Given the description of an element on the screen output the (x, y) to click on. 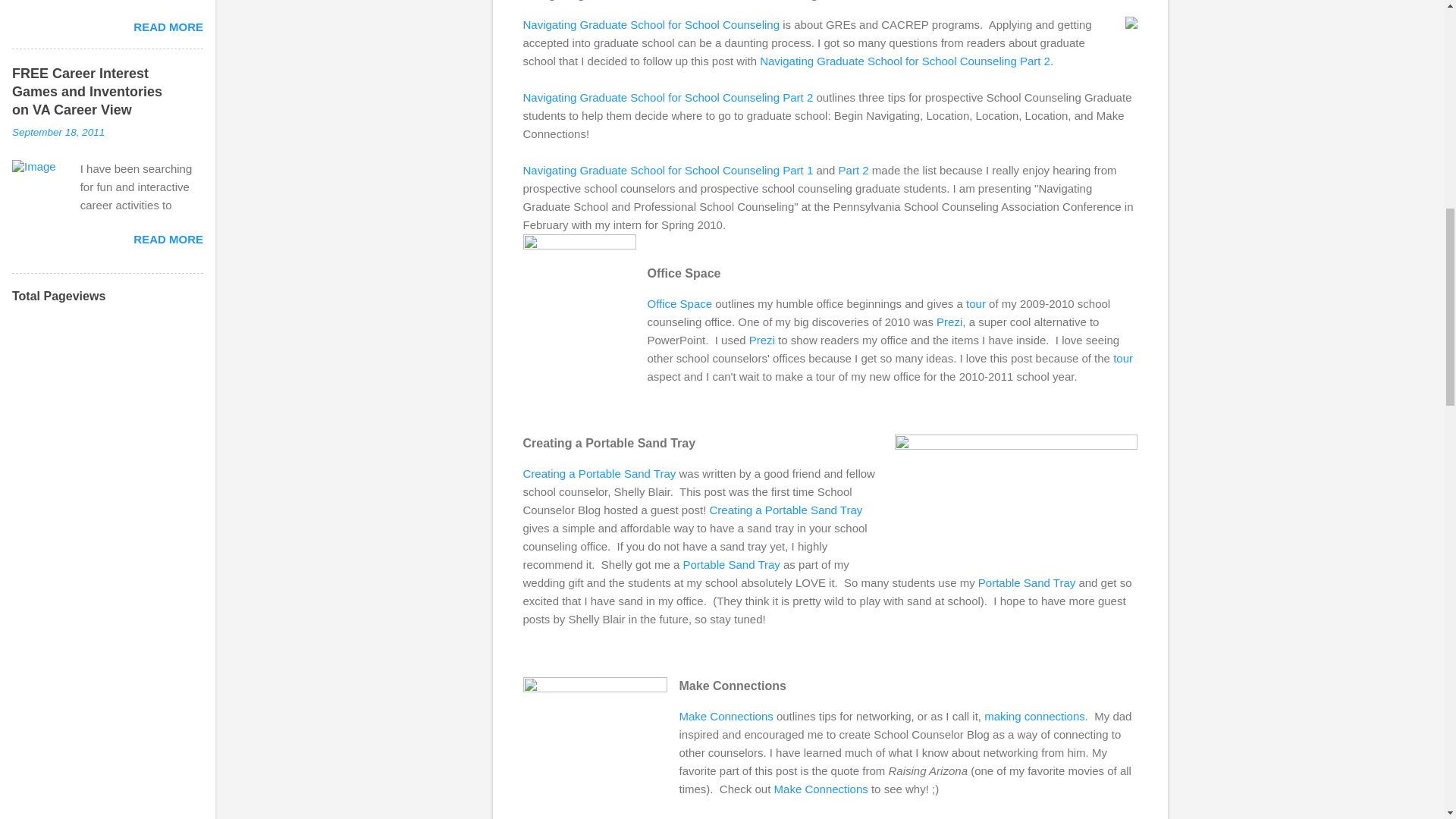
Creating a Portable Sand Tray (786, 509)
Navigating Graduate School for School Counseling (651, 24)
Prezi (761, 339)
Make Connections (726, 716)
Navigating Graduate School for School Counseling Part 1 (667, 169)
Prezi (949, 321)
Navigating Graduate School for School Counseling Part 2 (904, 60)
Part 2 (853, 169)
Office Space (680, 303)
making connections (1034, 716)
